Given the description of an element on the screen output the (x, y) to click on. 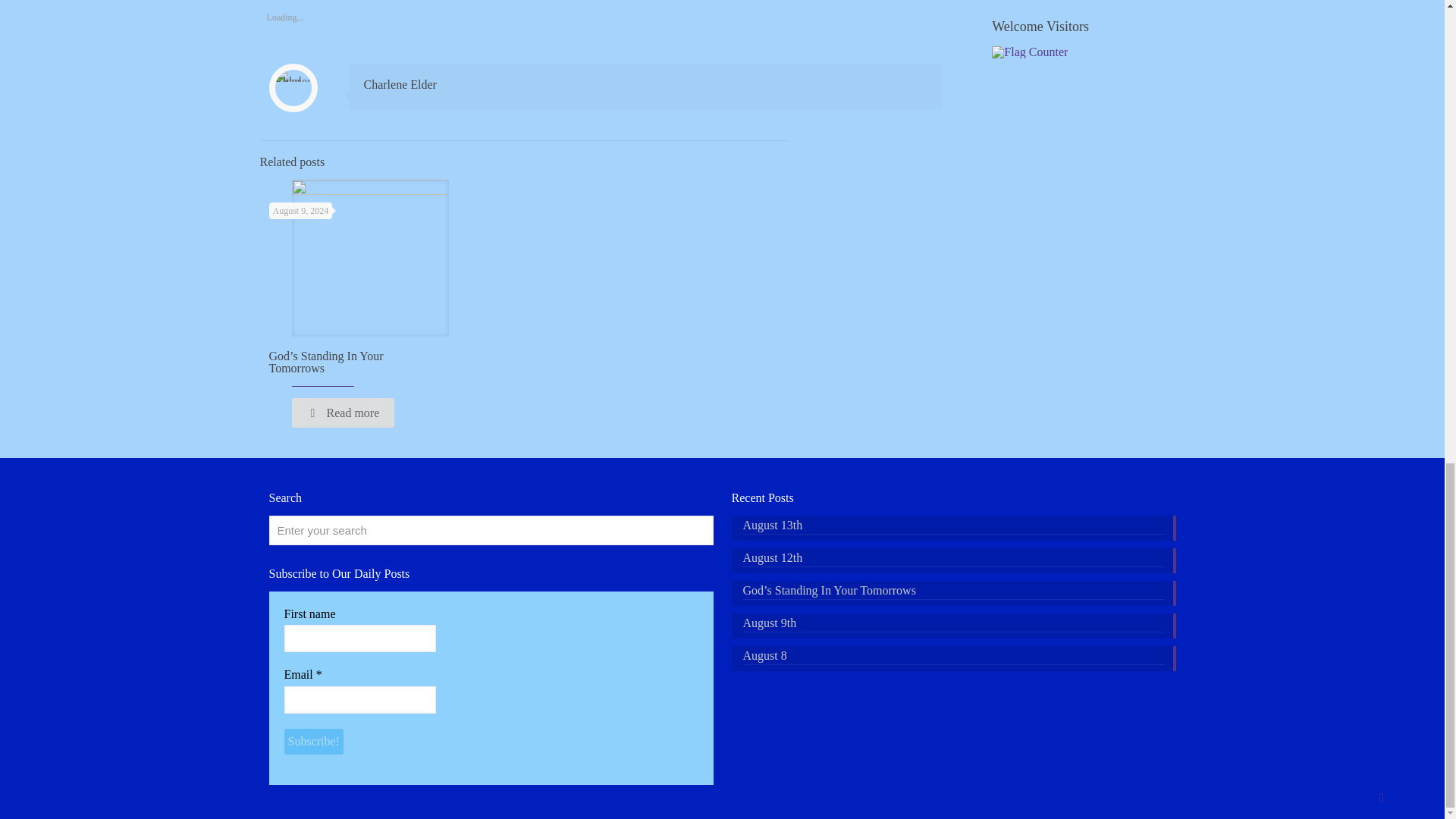
Subscribe! (312, 741)
Read more (342, 412)
First name (359, 637)
Email (359, 699)
Charlene Elder (400, 83)
